Given the description of an element on the screen output the (x, y) to click on. 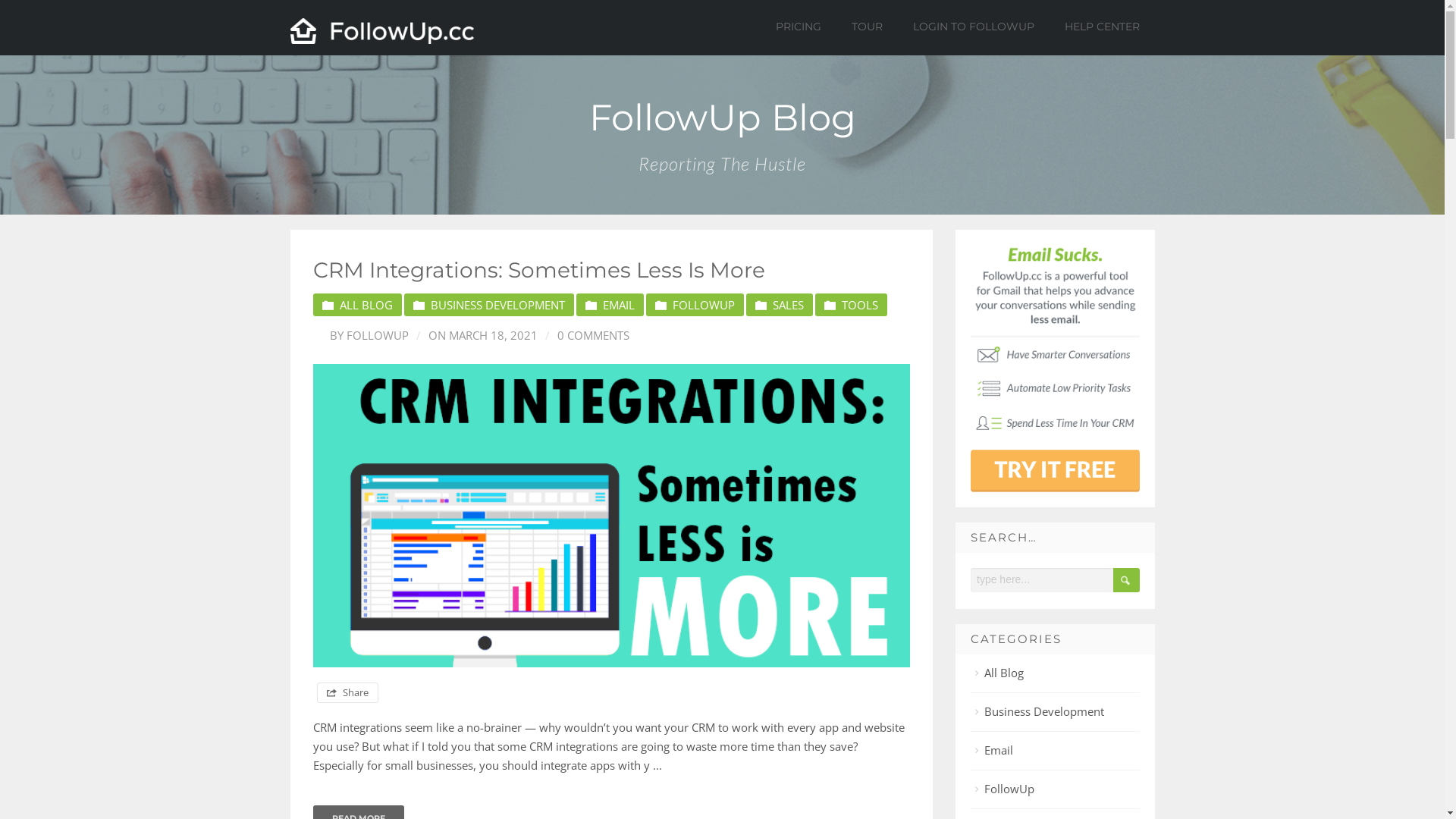
CRM Integrations: Sometimes Less Is More Element type: text (538, 269)
FOLLOWUP Element type: text (694, 304)
TOOLS Element type: text (850, 304)
Business Development Element type: text (1038, 710)
Share Element type: text (347, 692)
FollowUp Element type: text (1003, 788)
Email Element type: text (992, 749)
BUSINESS DEVELOPMENT Element type: text (488, 304)
BY FOLLOWUP Element type: text (360, 335)
FollowUp.cc Blog  For SalesPeople, Not Sales Robots Element type: hover (381, 30)
HELP CENTER Element type: text (1101, 26)
EMAIL Element type: text (609, 304)
CRM Integrations: Sometimes Less Is More Element type: hover (611, 515)
SALES Element type: text (779, 304)
All Blog Element type: text (997, 672)
TOUR Element type: text (867, 26)
PRICING Element type: text (798, 26)
ALL BLOG Element type: text (356, 304)
LOGIN TO FOLLOWUP Element type: text (972, 26)
0 COMMENTS Element type: text (582, 335)
